Given the description of an element on the screen output the (x, y) to click on. 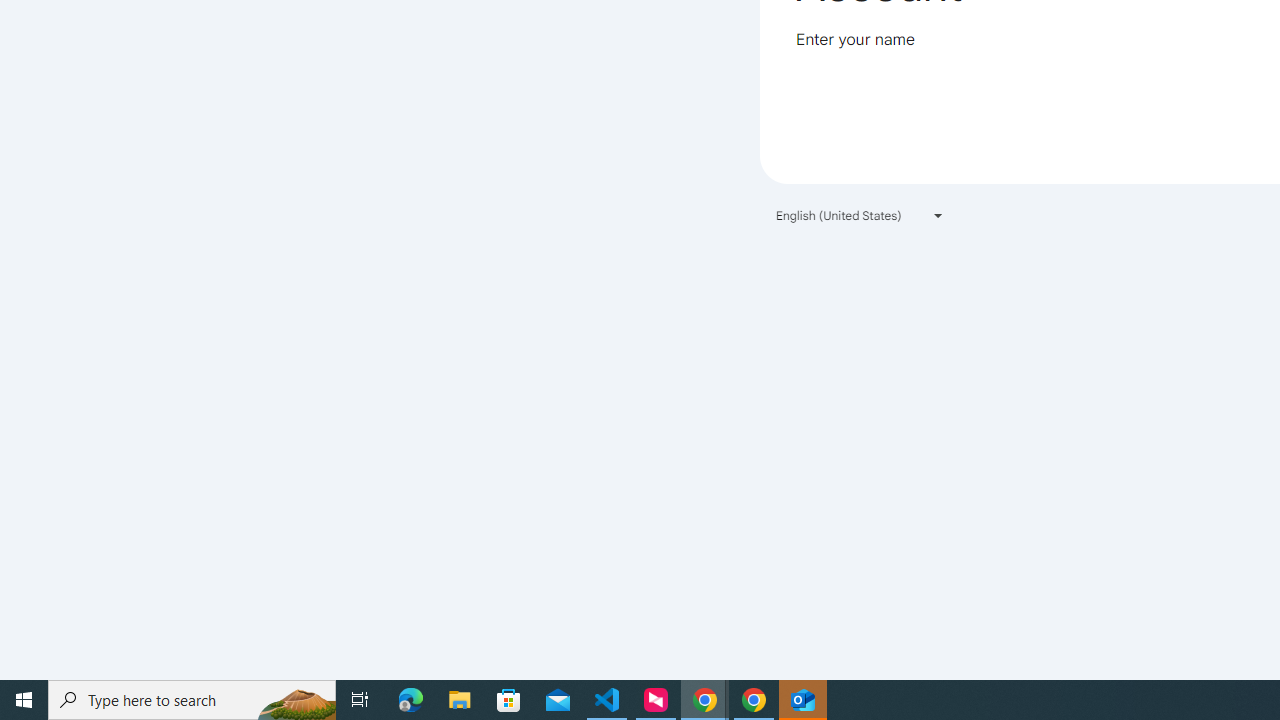
English (United States) (860, 214)
